Given the description of an element on the screen output the (x, y) to click on. 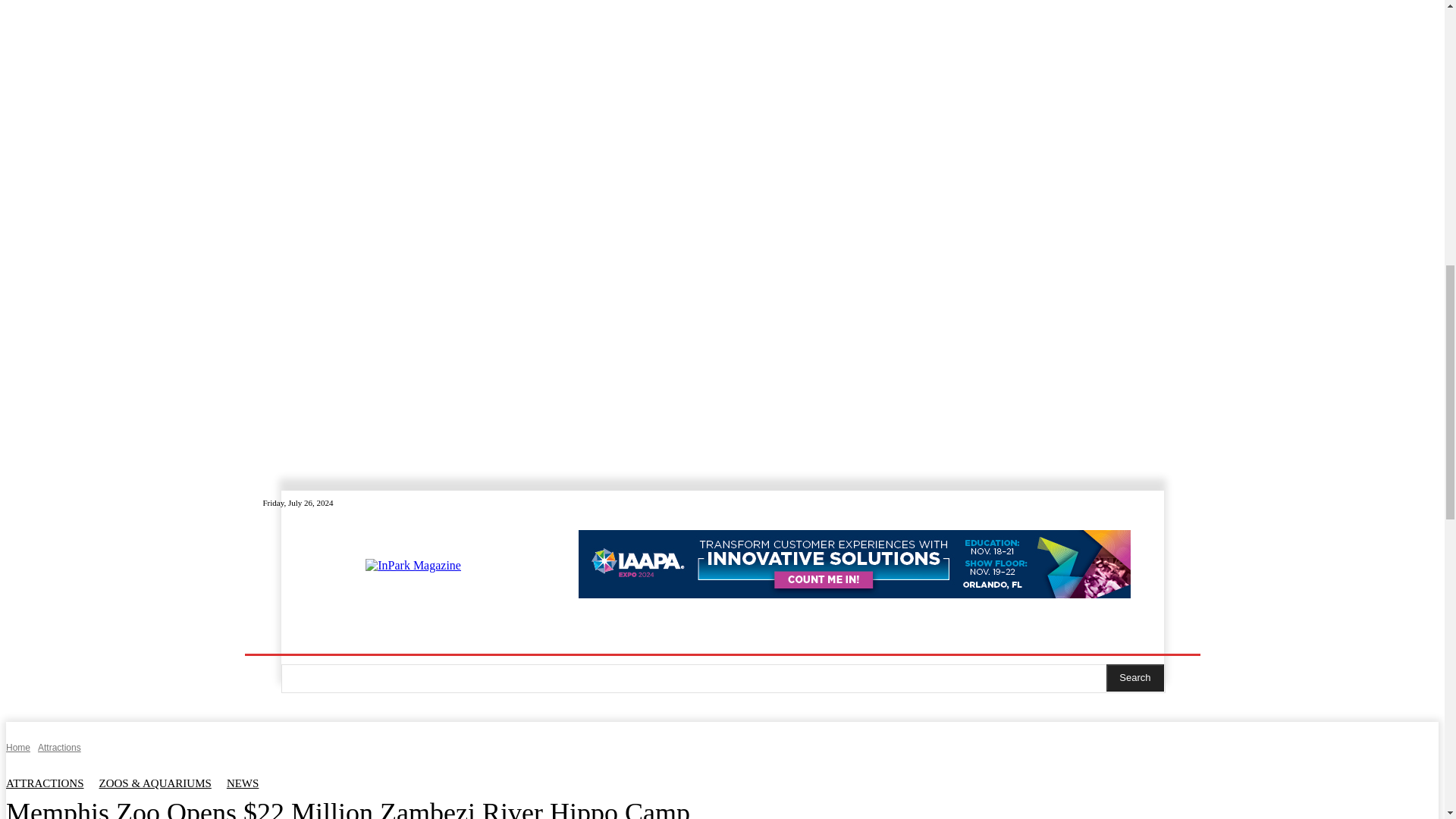
Twitter (1135, 502)
Instagram (1117, 502)
Vimeo (1153, 502)
Youtube (1171, 502)
Facebook (1099, 502)
View all posts in Attractions (59, 747)
